Given the description of an element on the screen output the (x, y) to click on. 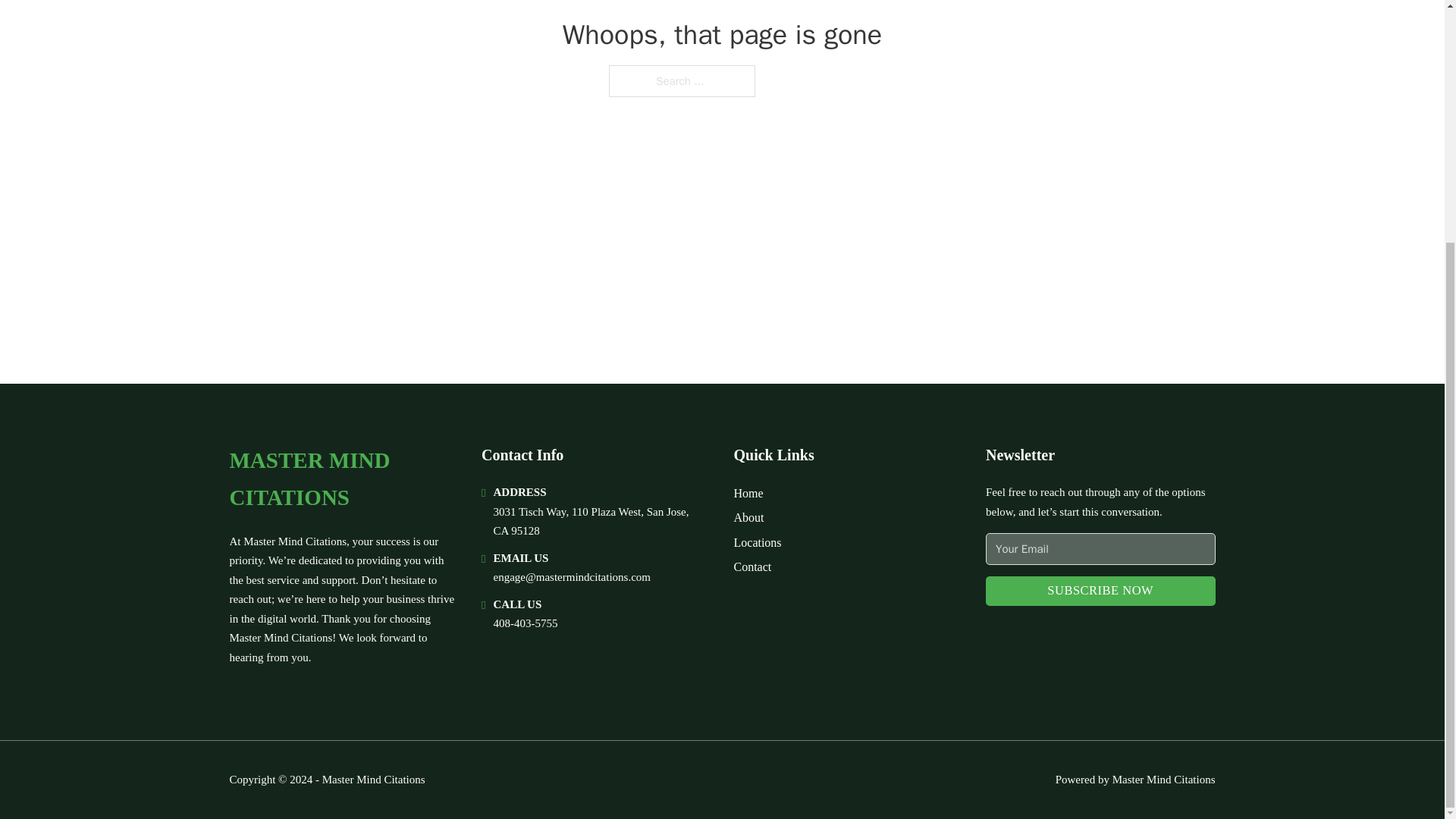
SUBSCRIBE NOW (1100, 591)
408-403-5755 (525, 623)
Contact (752, 566)
Home (747, 493)
About (748, 516)
Locations (757, 542)
MASTER MIND CITATIONS (343, 479)
